Given the description of an element on the screen output the (x, y) to click on. 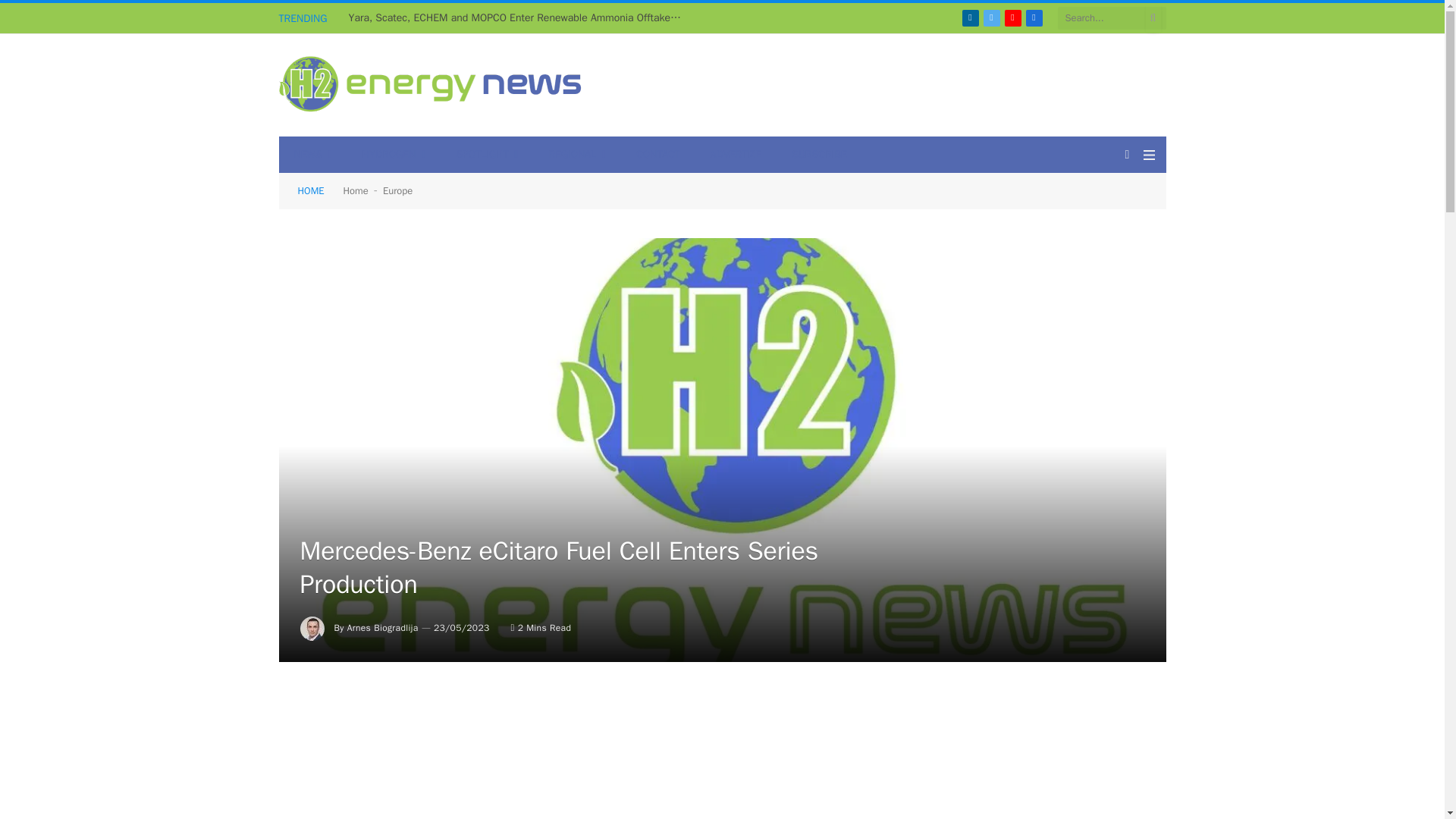
Green Hydrogen News (430, 85)
YouTube (1013, 17)
Facebook (1034, 17)
LinkedIn (970, 17)
Posts by Arnes Biogradlija (383, 627)
NEWS (313, 154)
Switch to Dark Design - easier on eyes. (1127, 154)
HYDROGEN (394, 154)
